Given the description of an element on the screen output the (x, y) to click on. 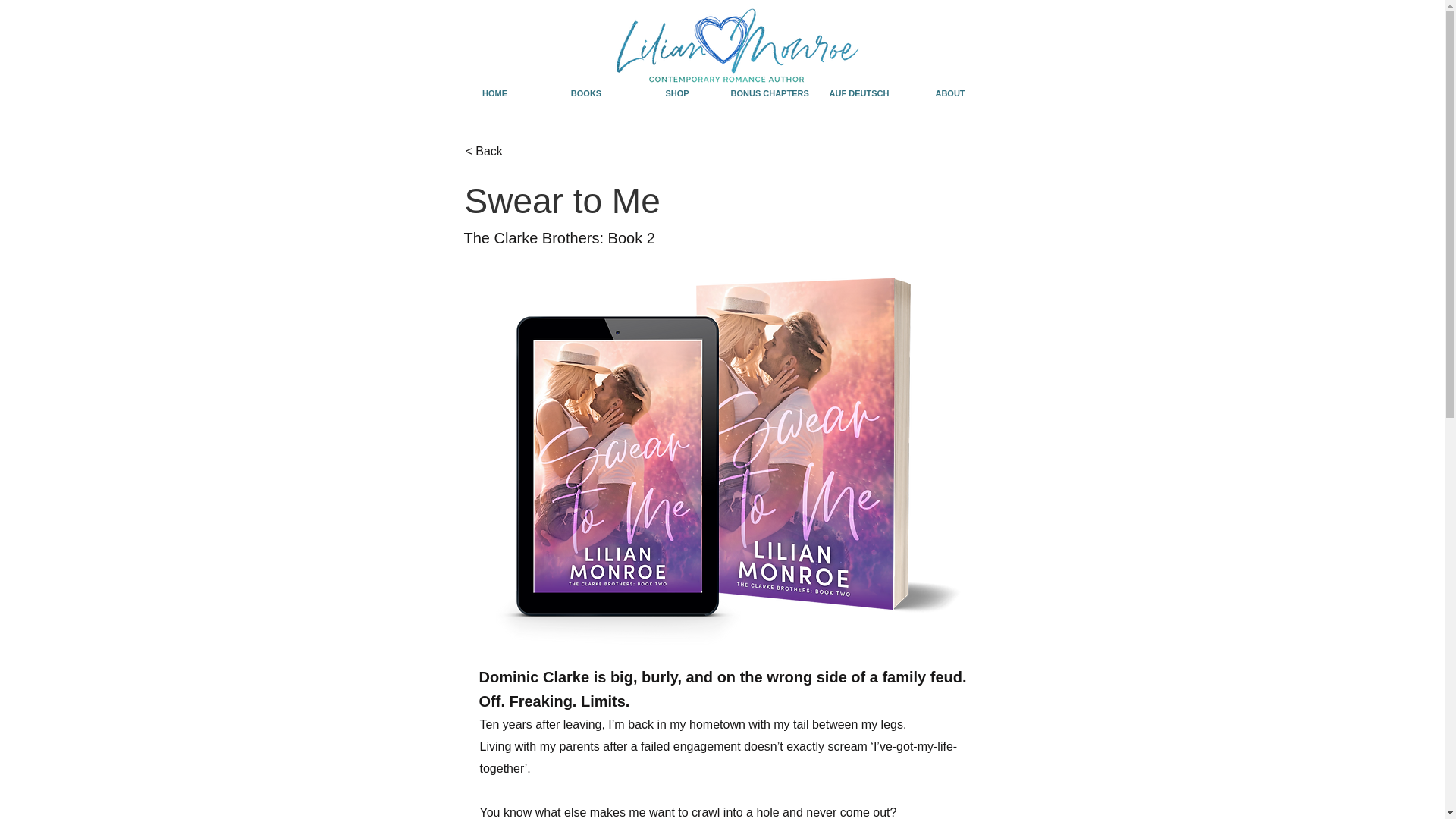
BONUS CHAPTERS (768, 92)
HOME (494, 92)
ABOUT (950, 92)
BOOKS (586, 92)
SHOP (676, 92)
AUF DEUTSCH (858, 92)
